Given the description of an element on the screen output the (x, y) to click on. 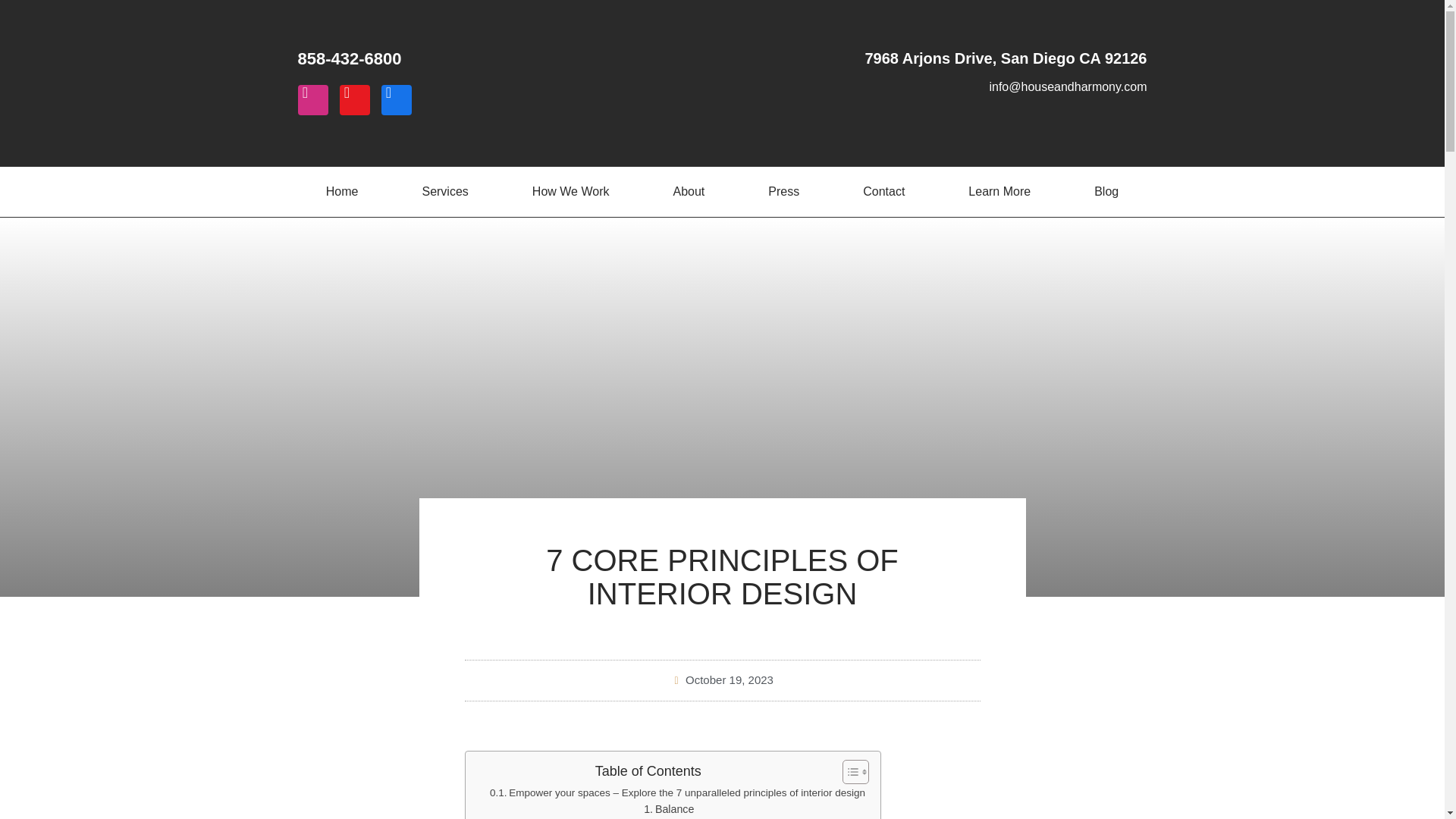
How We Work (571, 191)
858-432-6800 (349, 58)
Services (444, 191)
Symmetrical (677, 818)
About (688, 191)
Home (342, 191)
Press (783, 191)
Contact (883, 191)
Blog (1106, 191)
Learn More (999, 191)
